Given the description of an element on the screen output the (x, y) to click on. 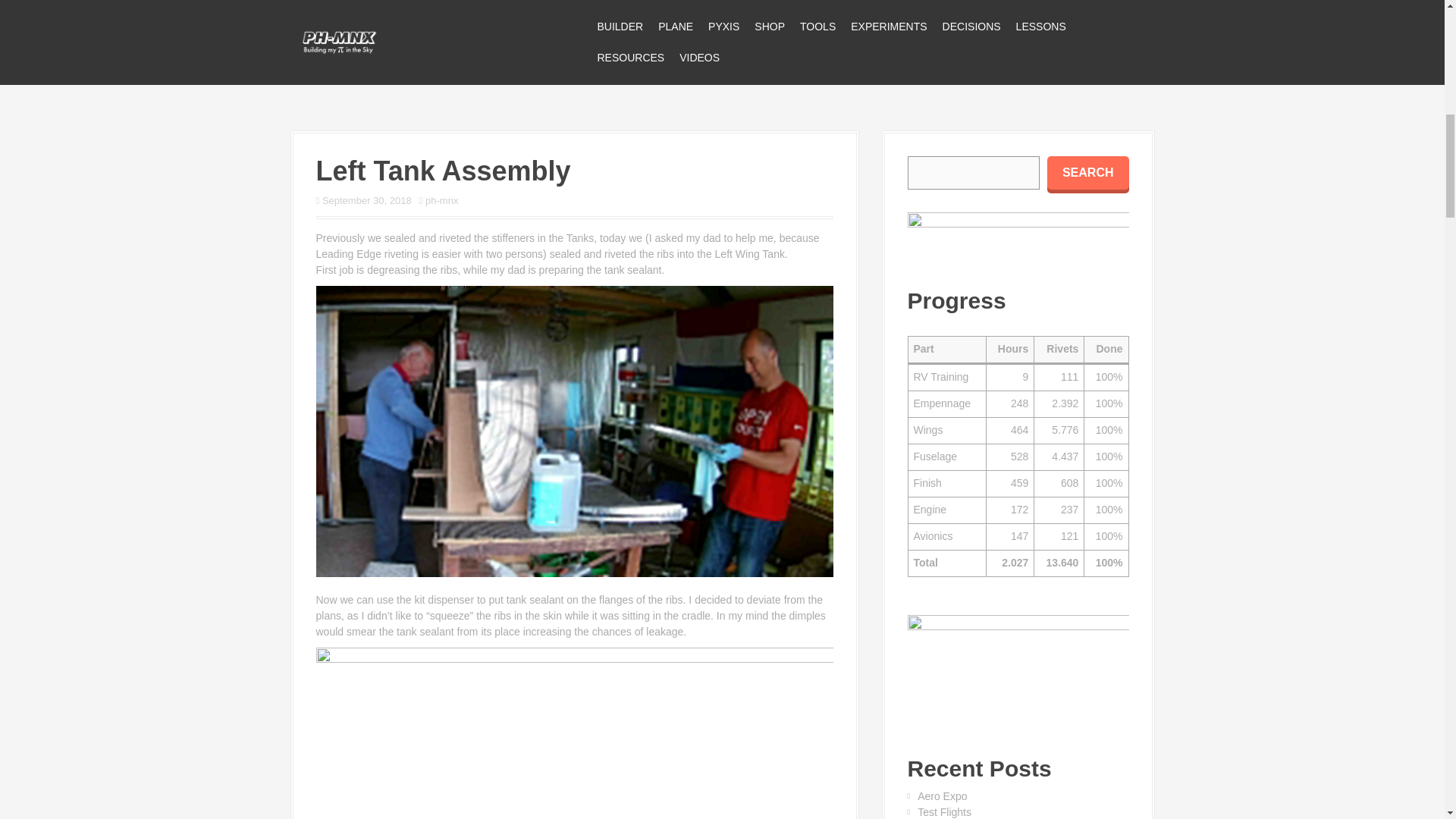
September 30, 2018 (366, 200)
EXPERIMENTS (888, 26)
ph-mnx (441, 200)
TOOLS (817, 26)
SEARCH (1087, 172)
DECISIONS (971, 26)
SHOP (769, 26)
RESOURCES (629, 57)
PH-MNX (339, 41)
BUILDER (619, 26)
